Given the description of an element on the screen output the (x, y) to click on. 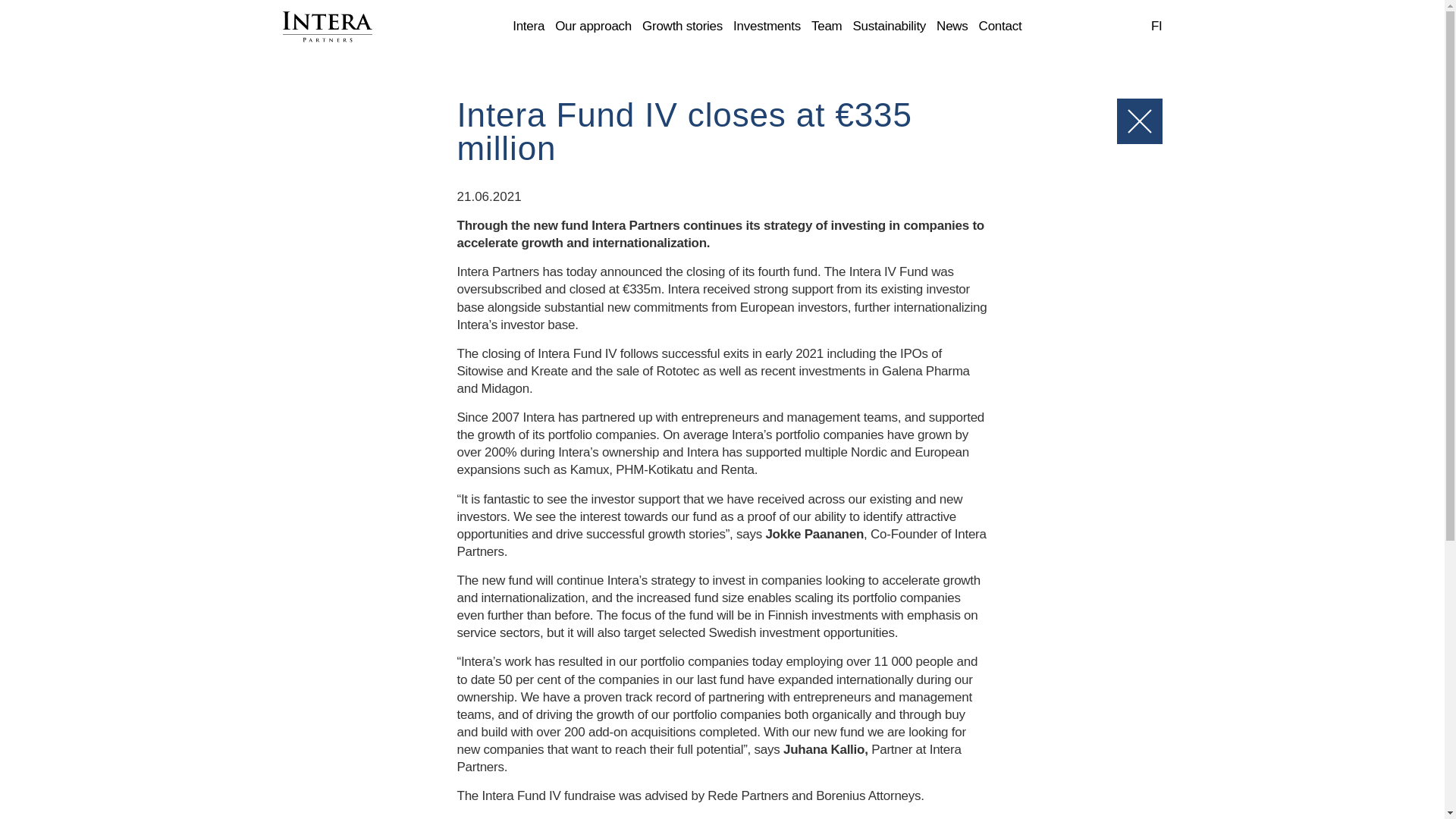
Our approach (592, 26)
Sustainability (888, 26)
Investments (766, 26)
Growth stories (682, 26)
